Given the description of an element on the screen output the (x, y) to click on. 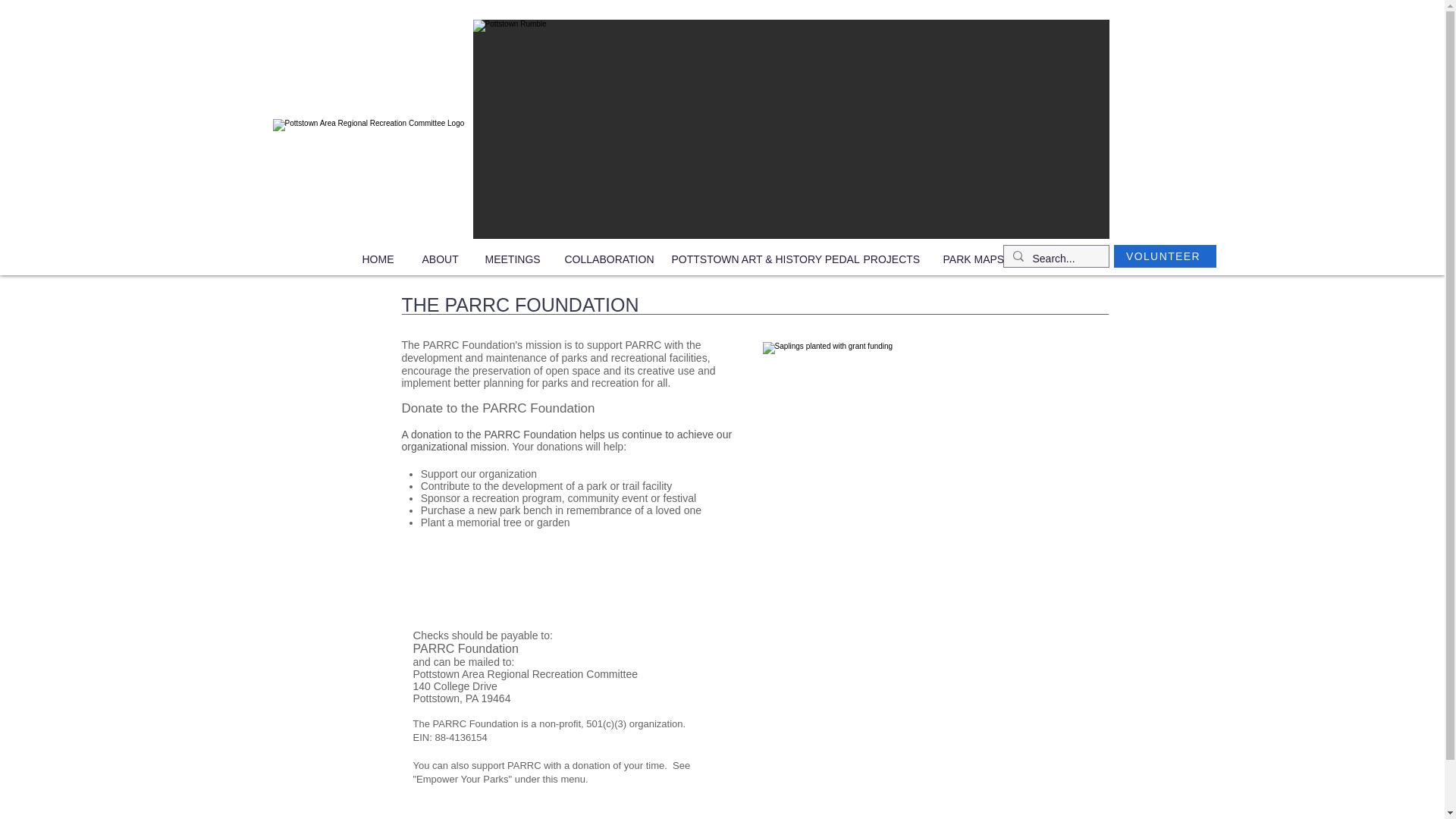
PARK MAPS (973, 259)
HOME (380, 259)
COLLABORATION (607, 259)
PROJECTS (891, 259)
MEETINGS (513, 259)
ABOUT (442, 259)
